Given the description of an element on the screen output the (x, y) to click on. 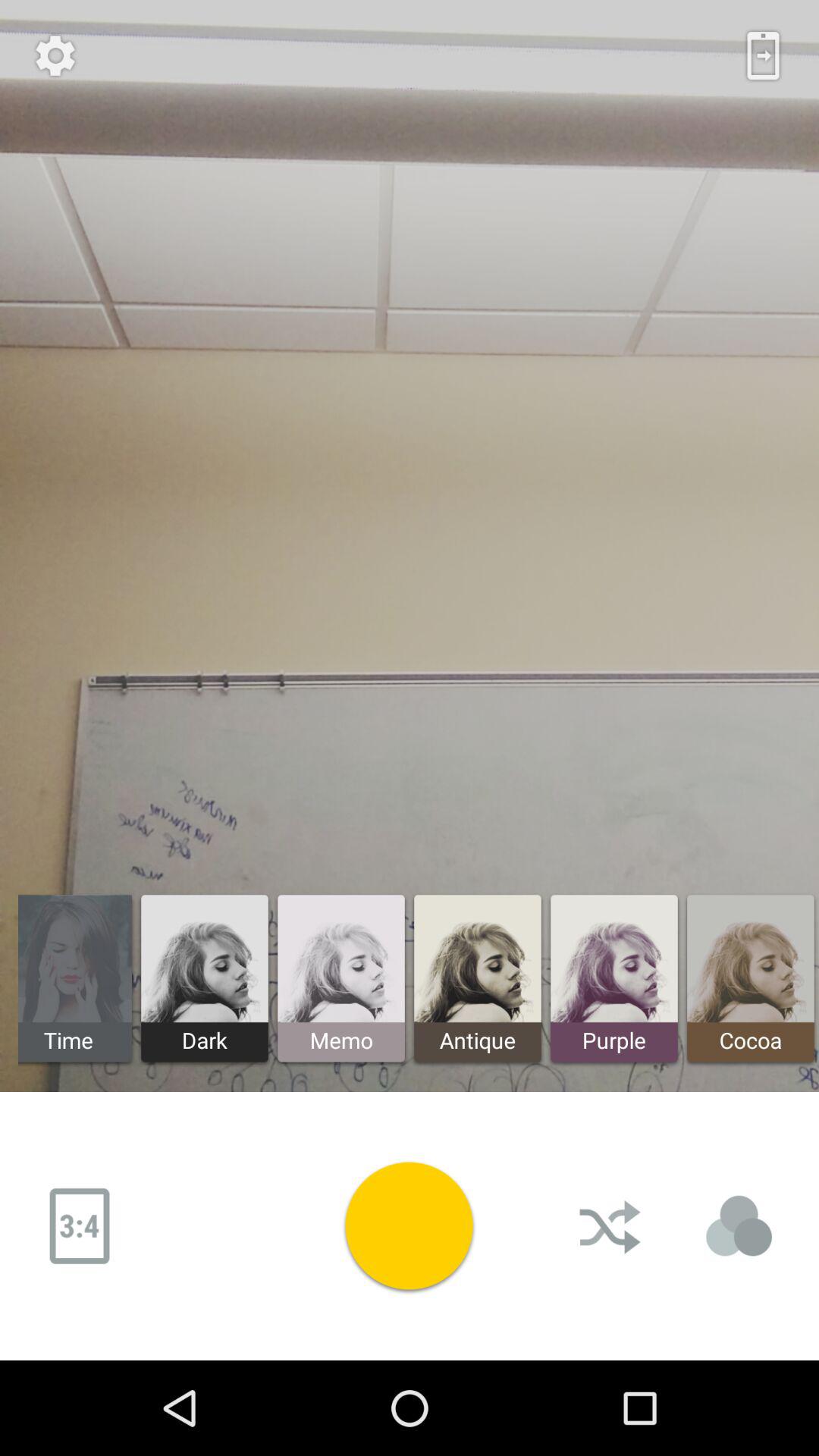
settings (55, 55)
